Given the description of an element on the screen output the (x, y) to click on. 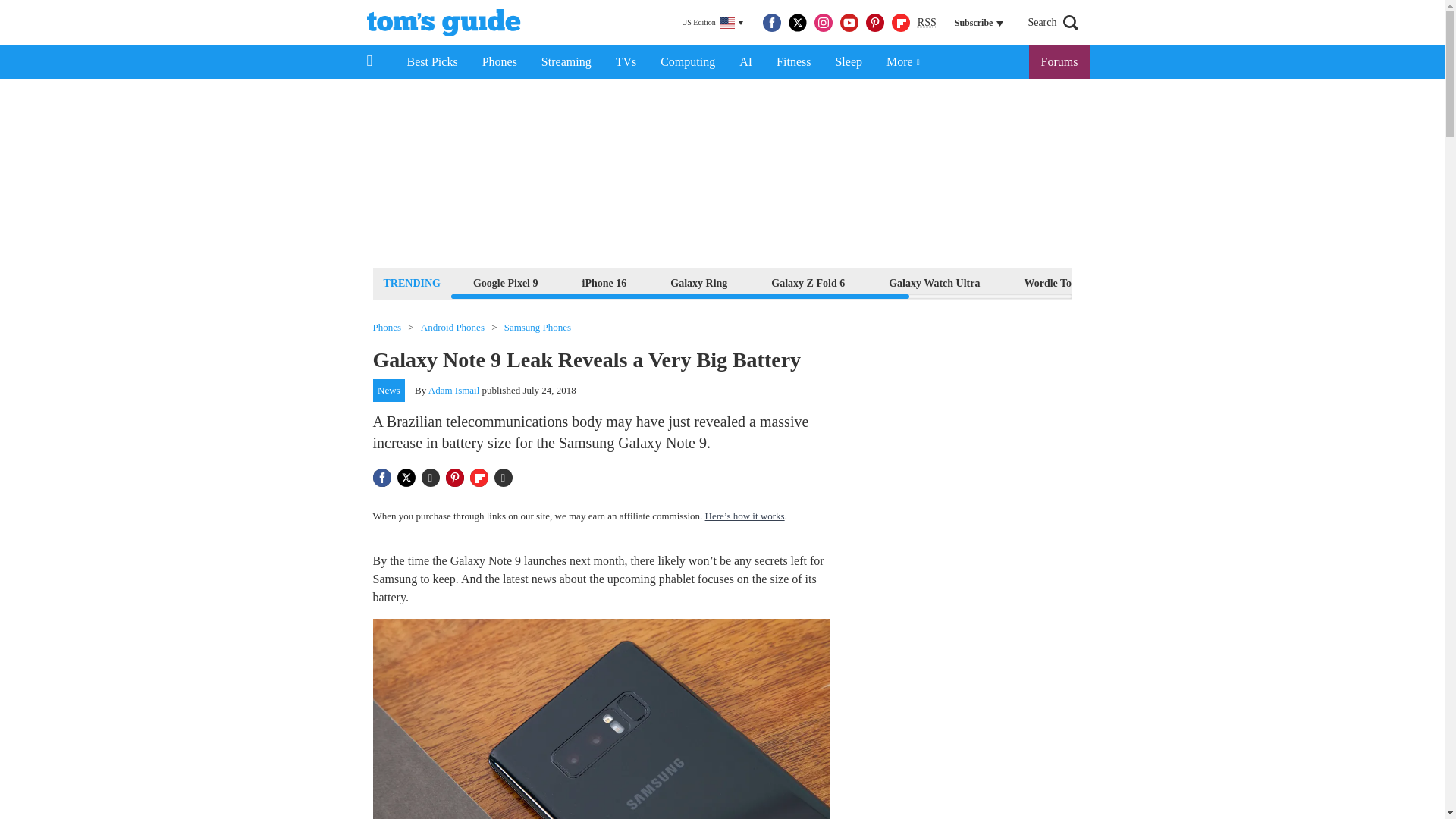
Sleep (848, 61)
Really Simple Syndication (926, 21)
US Edition (712, 22)
AI (745, 61)
Fitness (793, 61)
RSS (926, 22)
Phones (499, 61)
TVs (626, 61)
Best Picks (431, 61)
Computing (686, 61)
Streaming (566, 61)
